Given the description of an element on the screen output the (x, y) to click on. 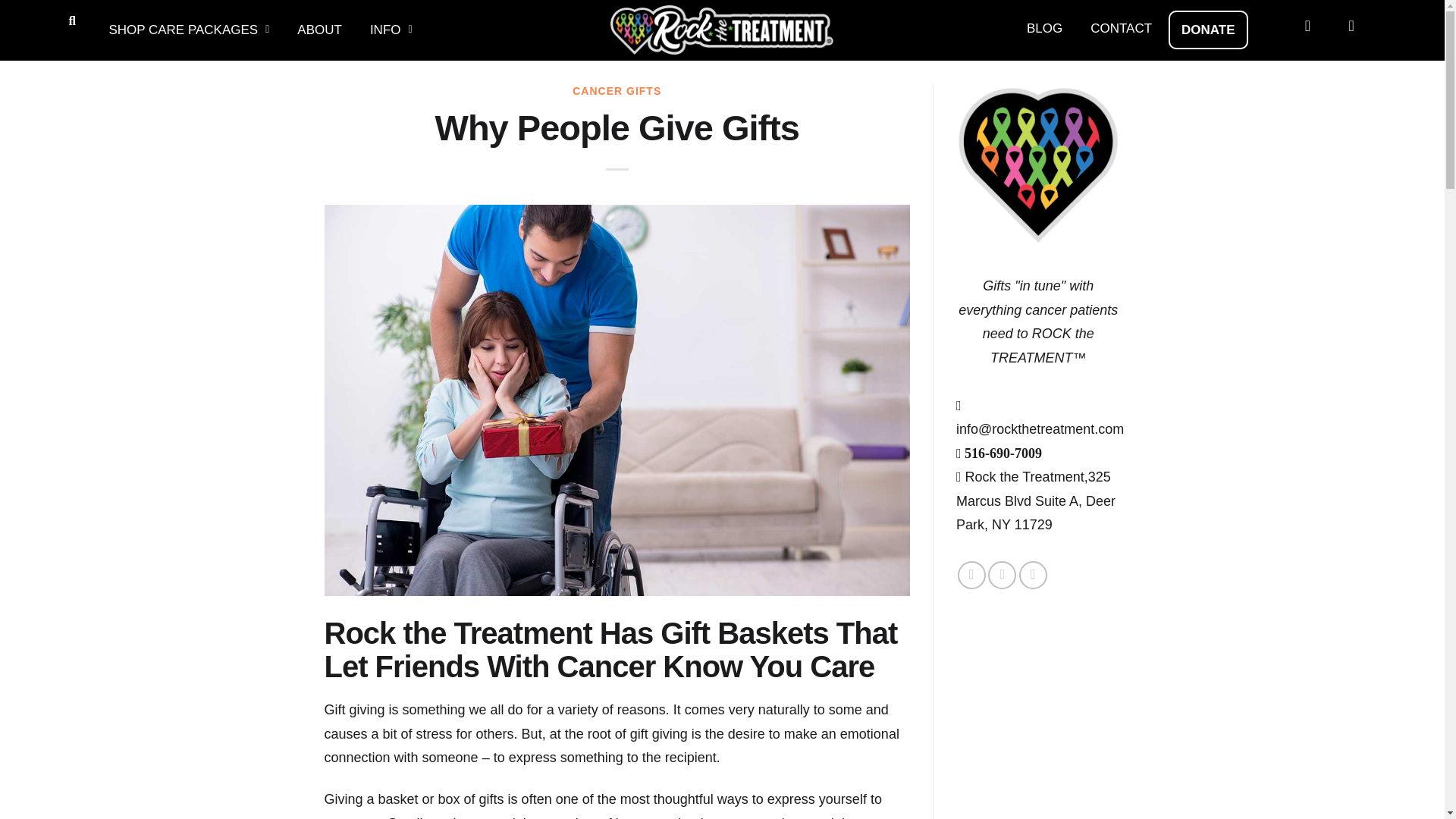
SHOP CARE PACKAGES (189, 29)
ABOUT (319, 29)
Follow on Facebook (971, 574)
Follow on Pinterest (1032, 574)
INFO (390, 29)
Follow on Twitter (1002, 574)
BLOG (1044, 27)
CONTACT (1120, 27)
